Given the description of an element on the screen output the (x, y) to click on. 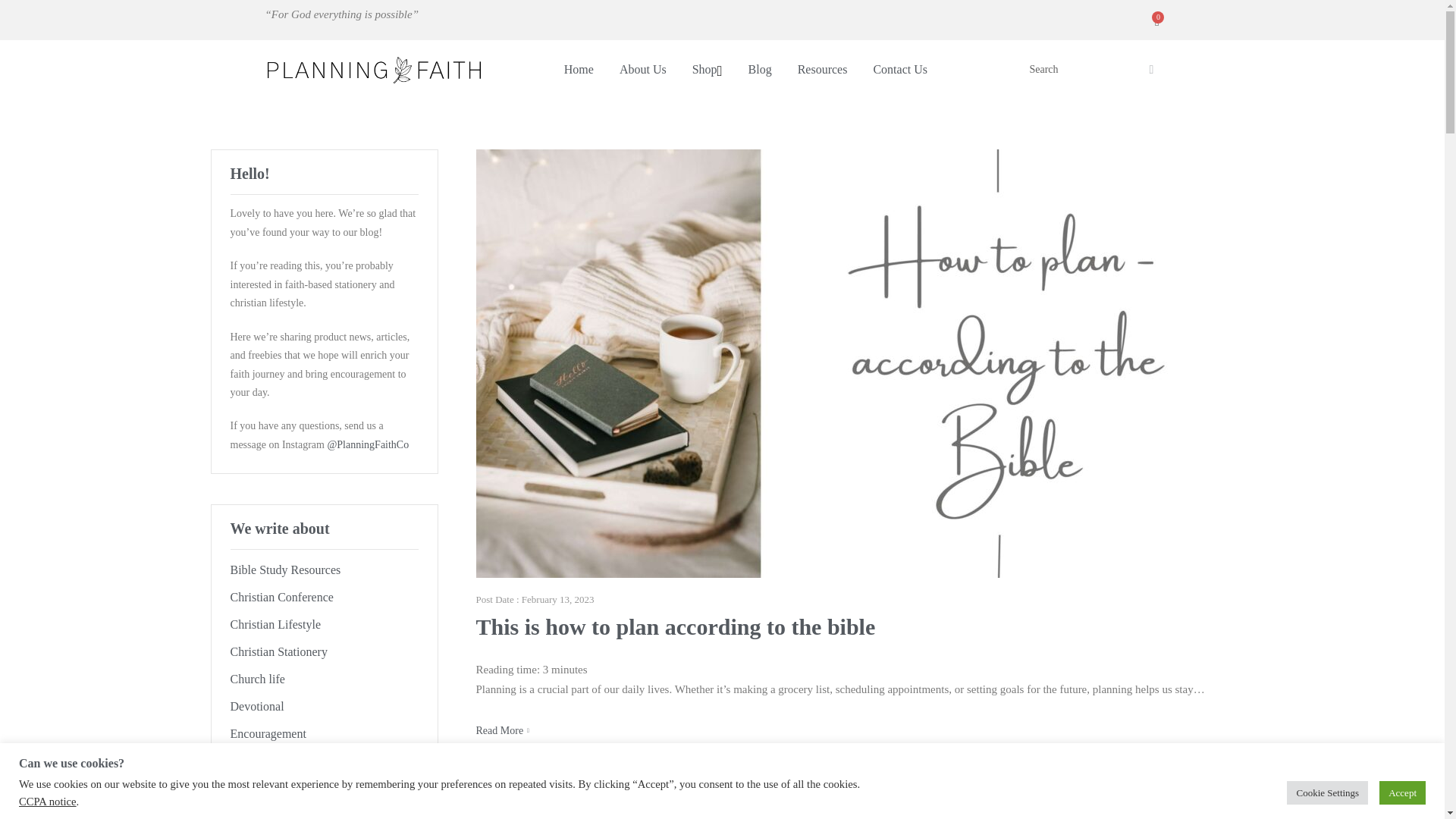
Shop (707, 69)
About Us (643, 69)
Contact Us (900, 69)
Home (579, 69)
Resources (822, 69)
Search (1150, 69)
Blog (759, 69)
